Given the description of an element on the screen output the (x, y) to click on. 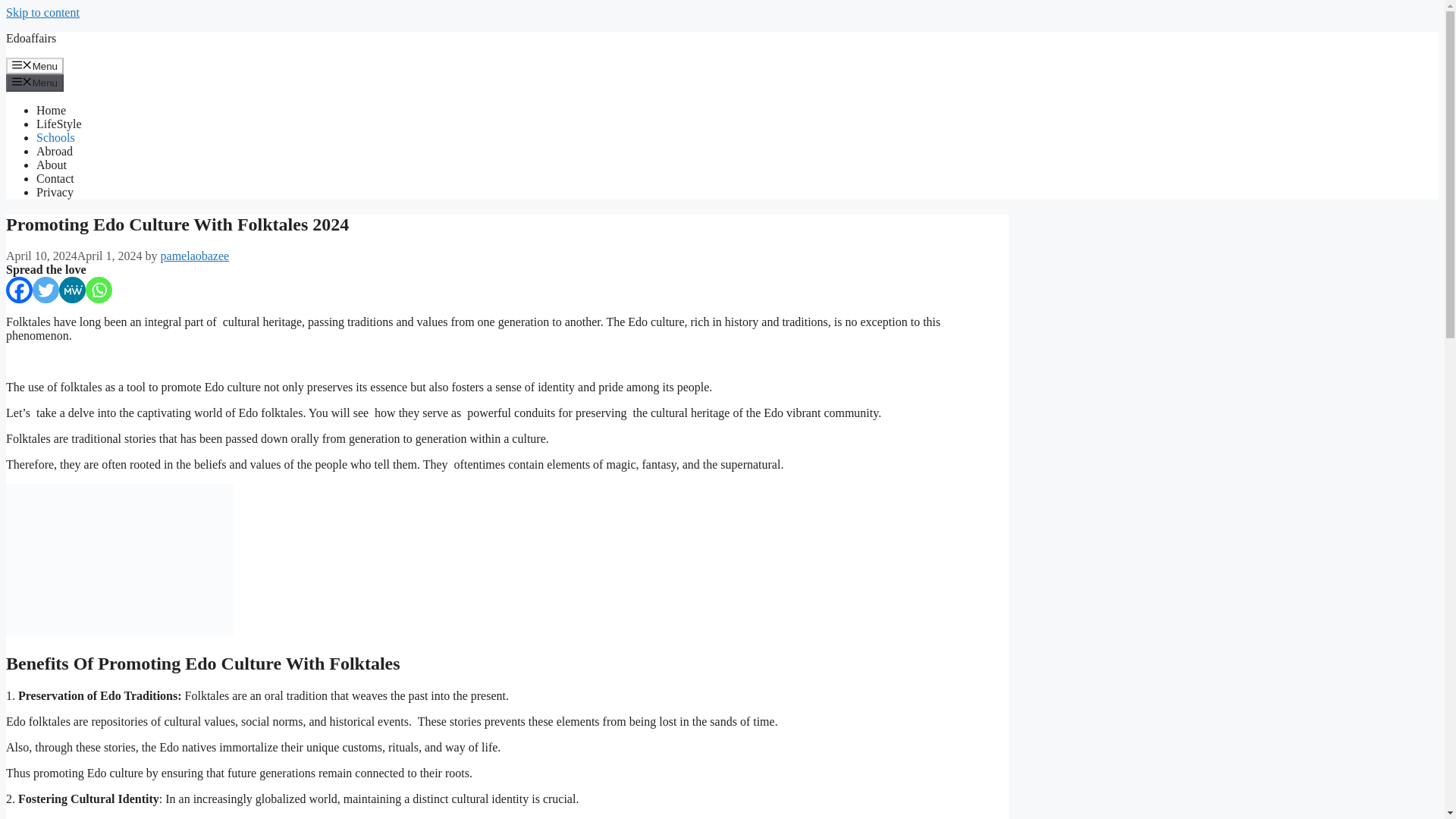
Twitter (45, 289)
Privacy (55, 192)
Menu (34, 82)
MeWe (72, 289)
Skip to content (42, 11)
View all posts by pamelaobazee (195, 255)
pamelaobazee (195, 255)
Home (50, 110)
Menu (34, 65)
Skip to content (42, 11)
Facebook (18, 289)
Edoaffairs (30, 38)
Contact (55, 178)
Whatsapp (98, 289)
Schools (55, 137)
